Given the description of an element on the screen output the (x, y) to click on. 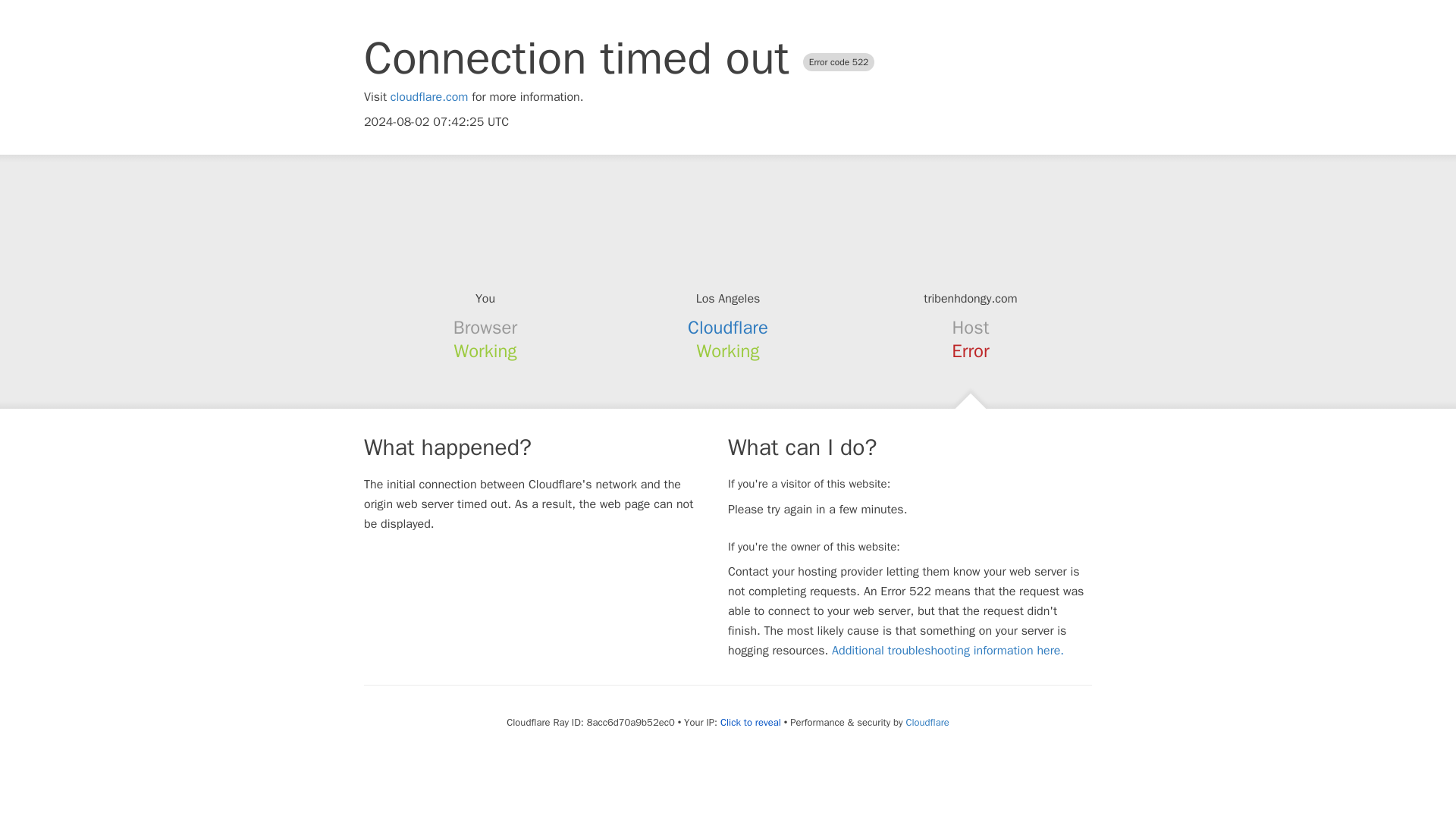
cloudflare.com (429, 96)
Additional troubleshooting information here. (947, 650)
Cloudflare (727, 327)
Click to reveal (750, 722)
Cloudflare (927, 721)
